Given the description of an element on the screen output the (x, y) to click on. 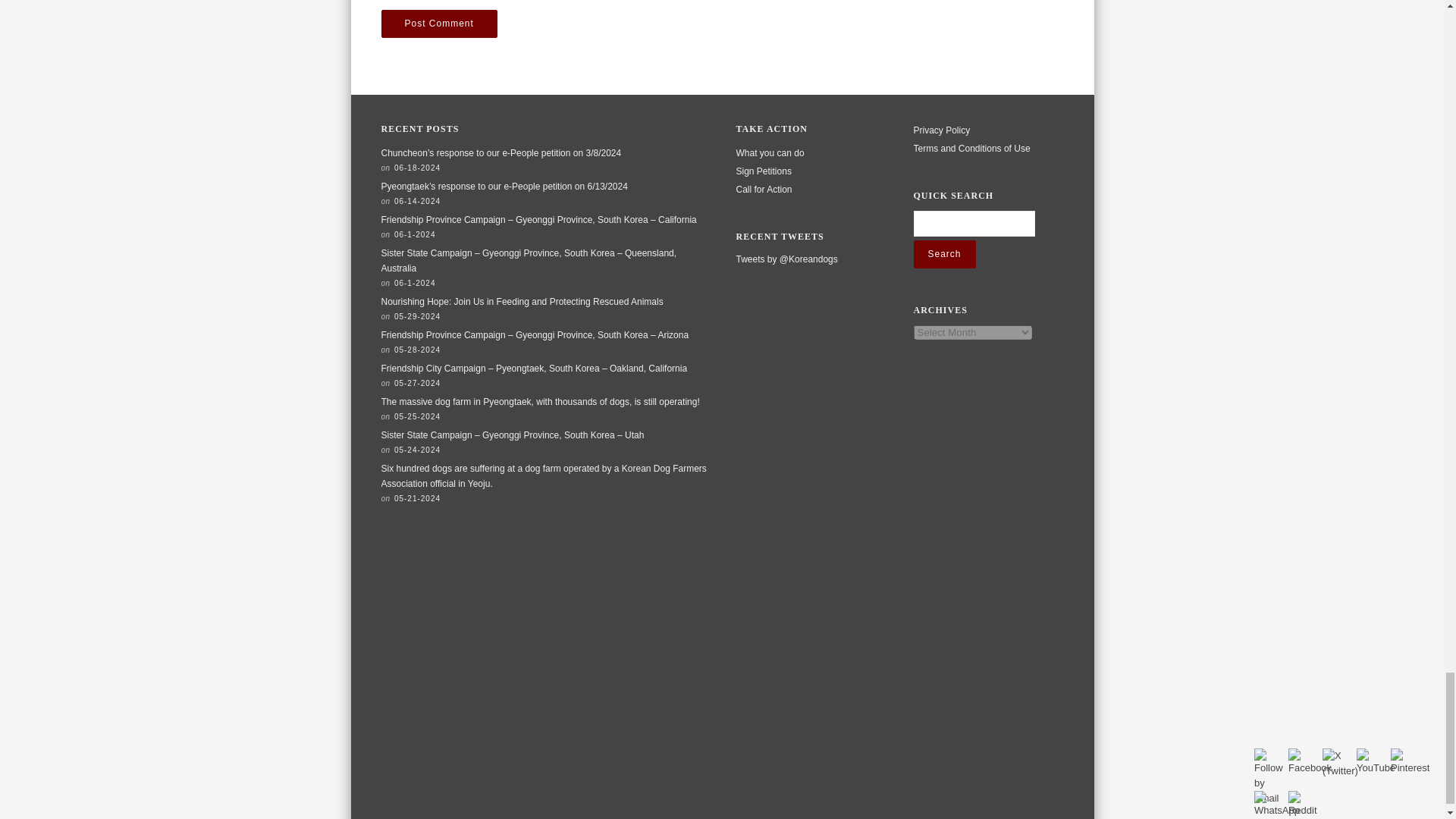
Search (943, 254)
Saturday, June 1st, 2024, 8:09 pm (414, 283)
Saturday, June 1st, 2024, 10:55 pm (414, 234)
Post Comment (438, 23)
Tuesday, June 18th, 2024, 11:54 pm (417, 167)
Friday, June 14th, 2024, 6:51 am (417, 201)
